Given the description of an element on the screen output the (x, y) to click on. 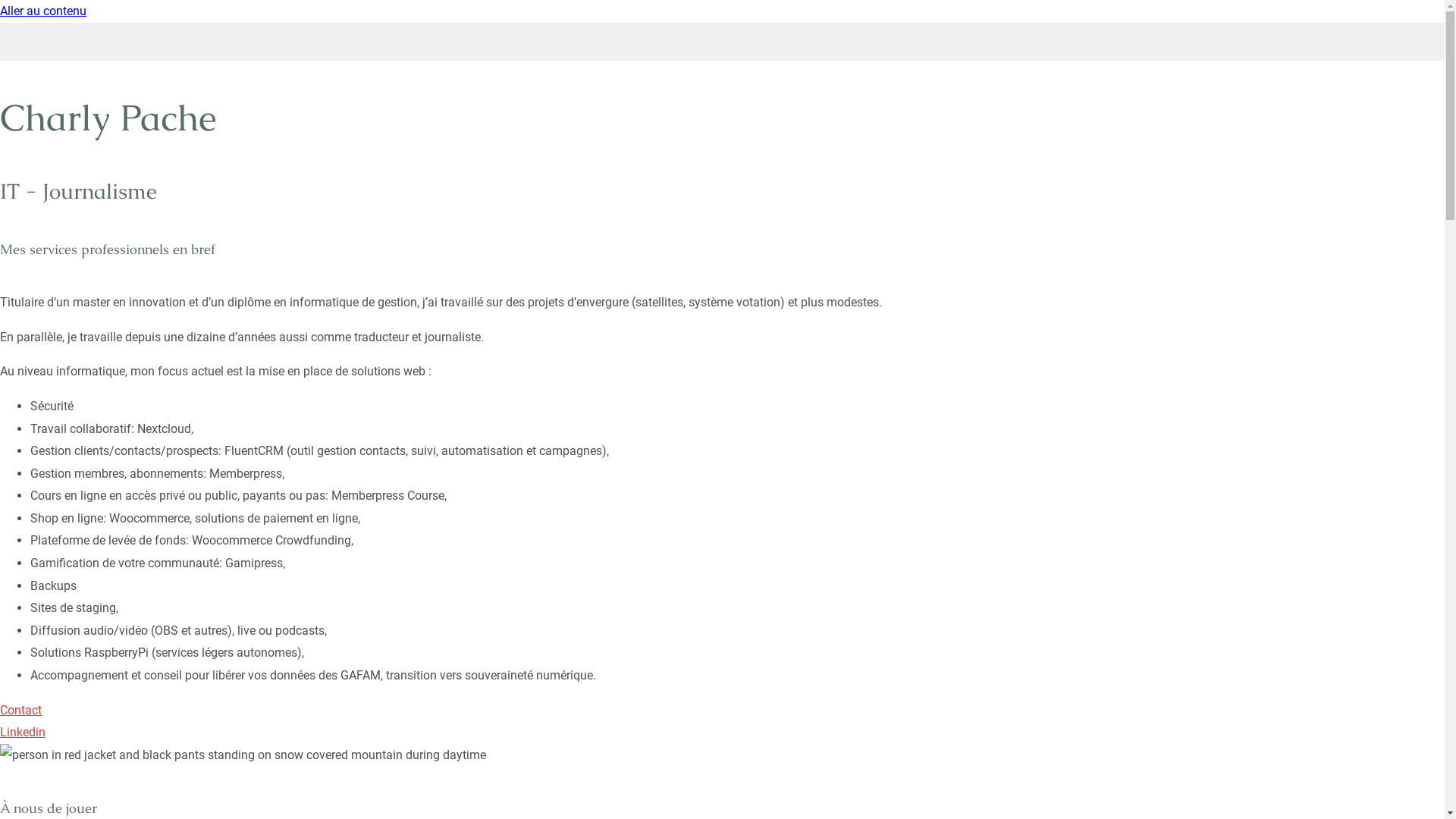
Contact Element type: text (20, 709)
Linkedin Element type: text (22, 731)
Aller au contenu Element type: text (43, 10)
Charly Pache Element type: text (35, 64)
